Given the description of an element on the screen output the (x, y) to click on. 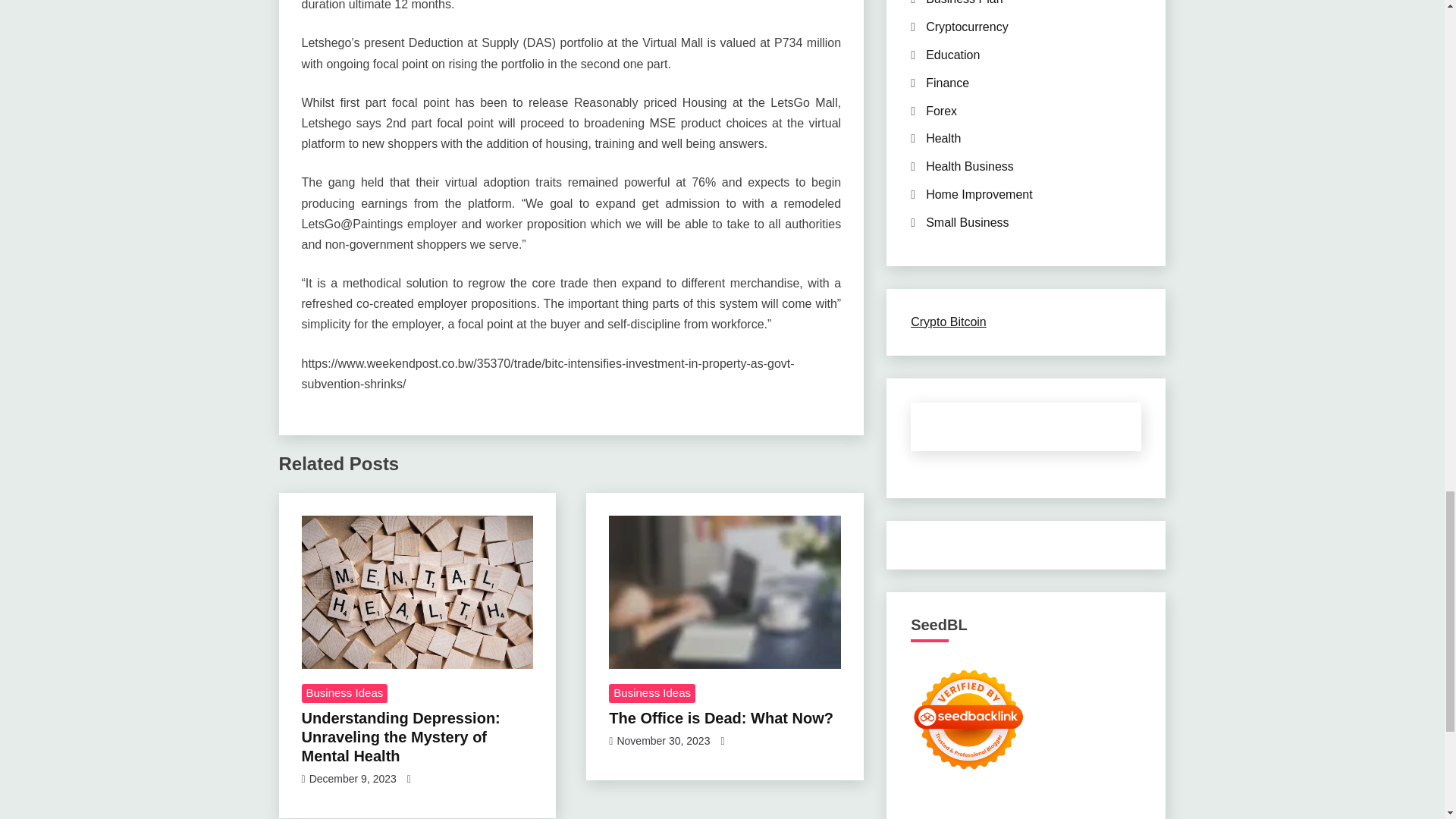
The Office is Dead: What Now? (720, 718)
The Office is Dead: What Now? (724, 592)
Seedbacklink (968, 719)
Business Ideas (651, 693)
November 30, 2023 (662, 740)
December 9, 2023 (352, 778)
Business Ideas (344, 693)
